Given the description of an element on the screen output the (x, y) to click on. 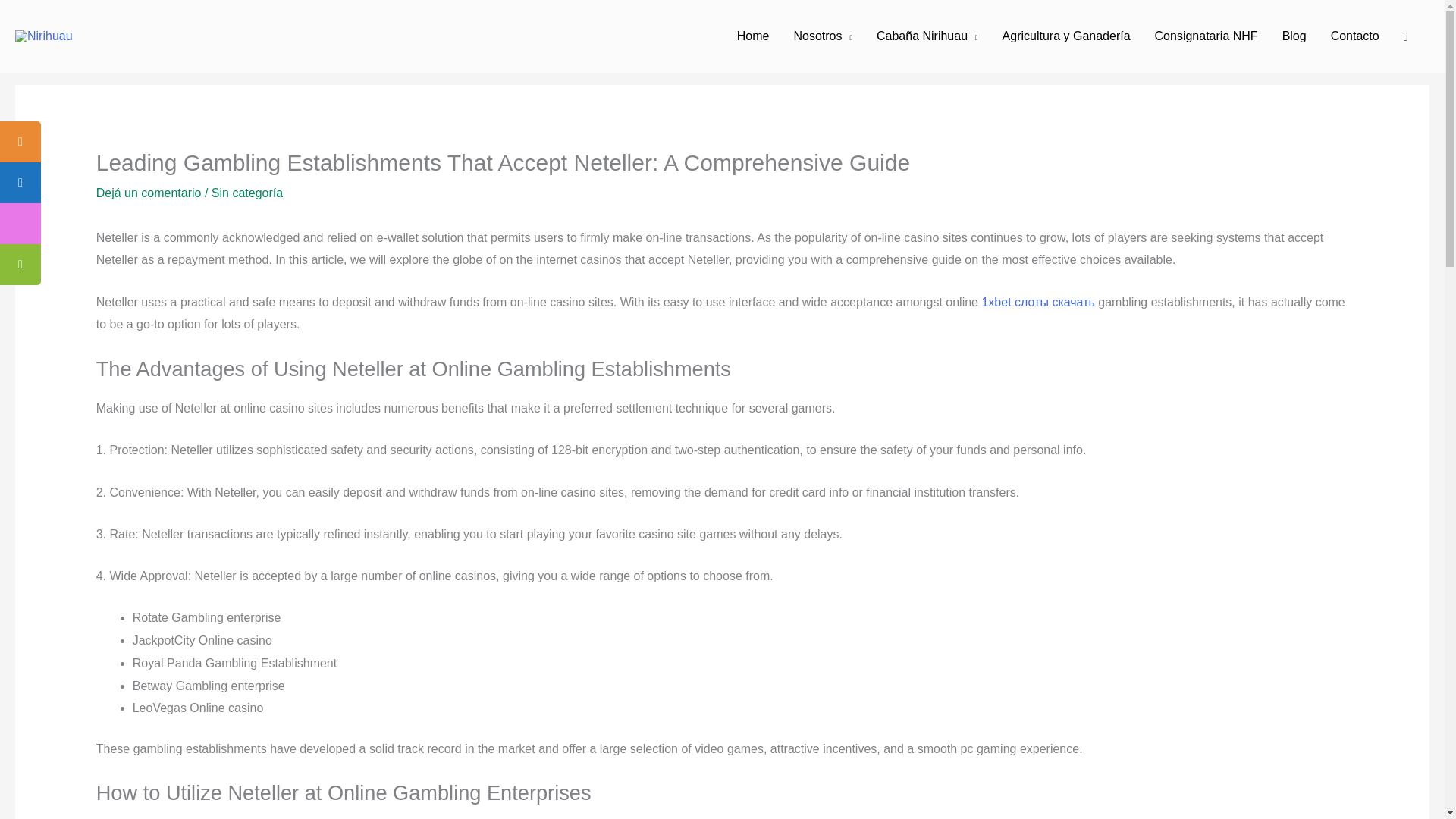
Home (753, 36)
Nosotros (822, 36)
Contacto (1355, 36)
Consignataria NHF (1205, 36)
Blog (1294, 36)
